Given the description of an element on the screen output the (x, y) to click on. 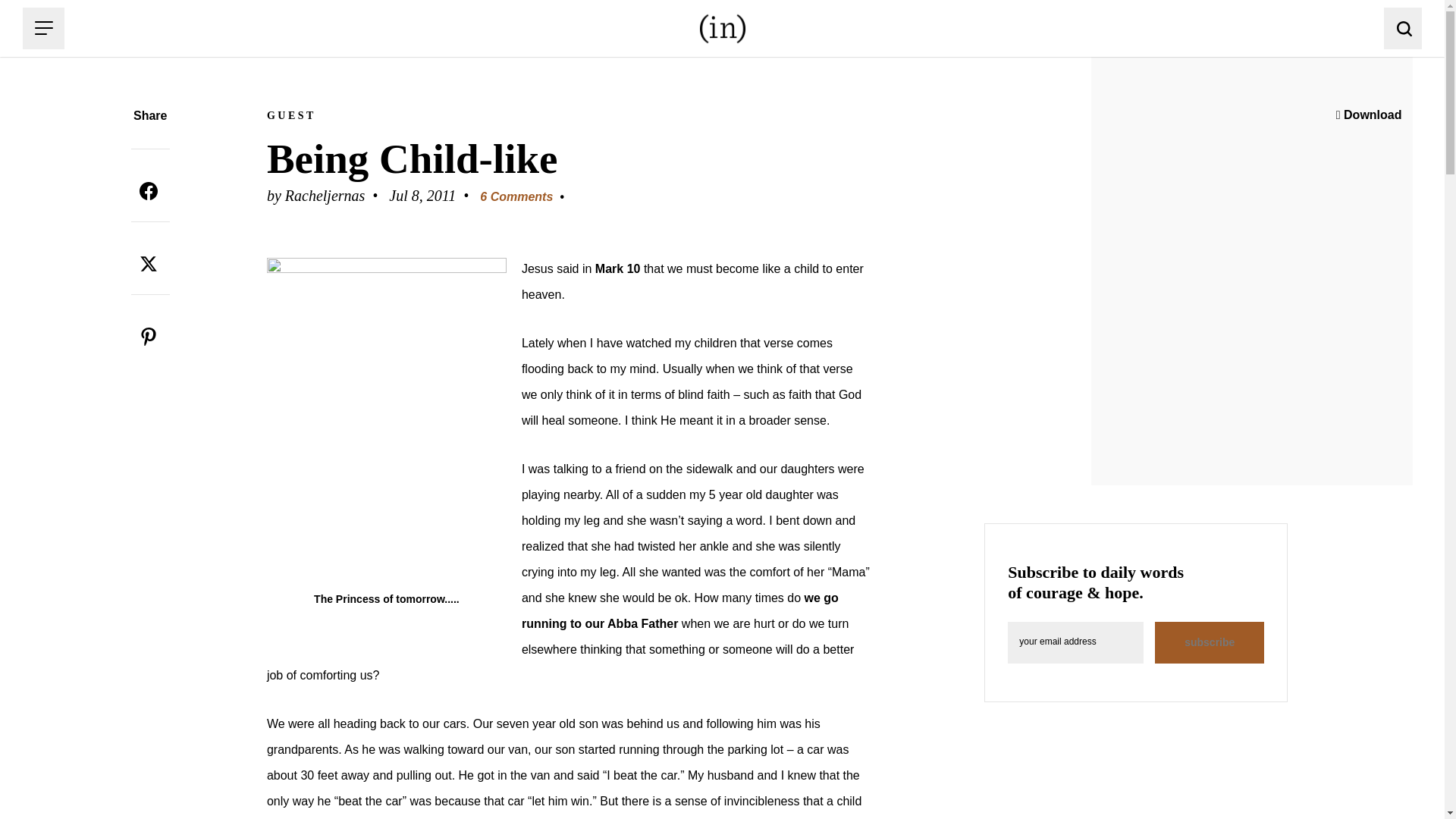
Subscribe (1208, 642)
Share on Pinterest (148, 336)
Share on Facebook (148, 190)
Share on Twitter (148, 263)
